Given the description of an element on the screen output the (x, y) to click on. 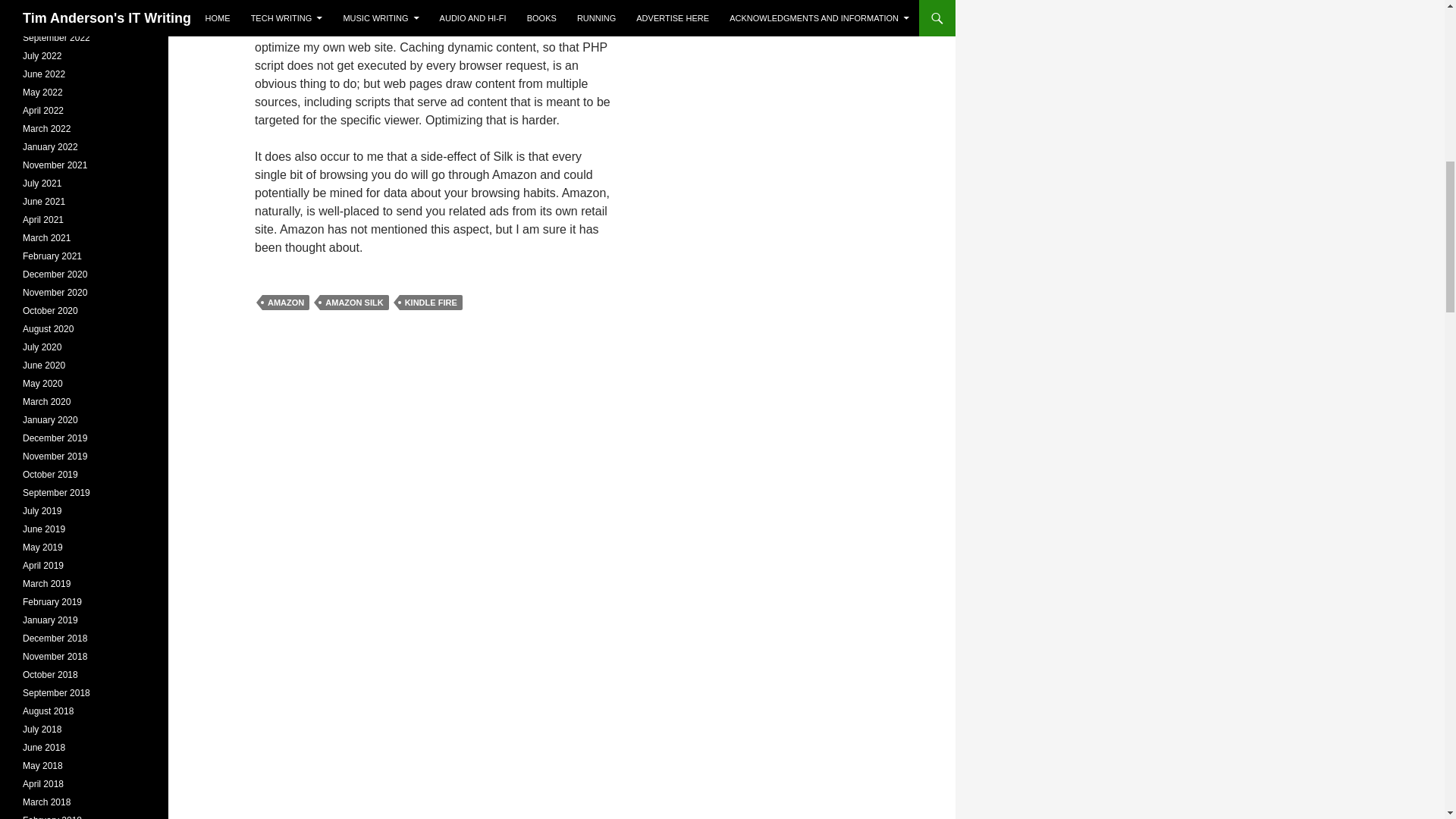
KINDLE FIRE (430, 302)
AMAZON SILK (354, 302)
AMAZON (285, 302)
